Given the description of an element on the screen output the (x, y) to click on. 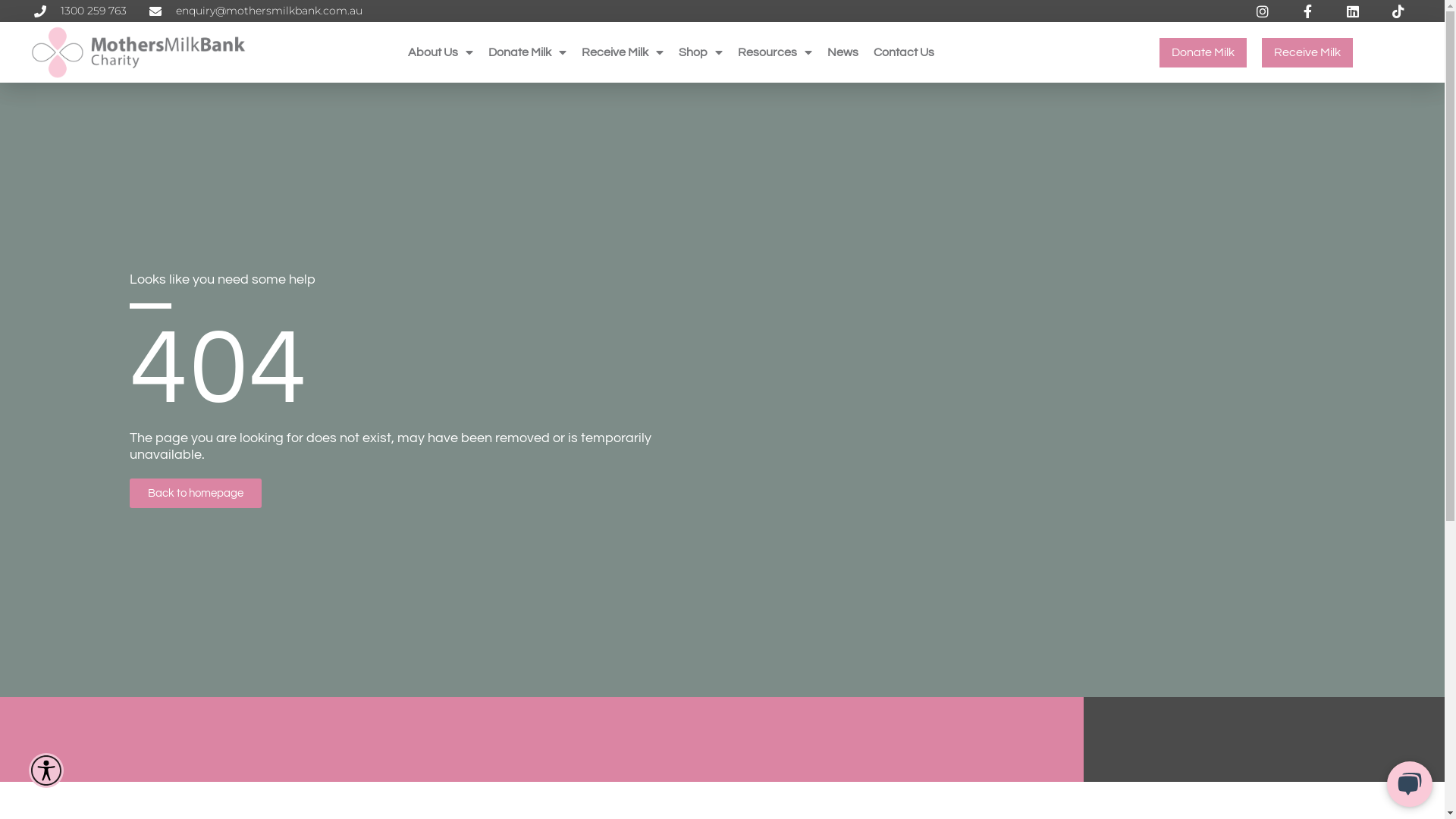
enquiry@mothersmilkbank.com.au Element type: text (255, 10)
Donate Milk Element type: text (1202, 52)
Resources Element type: text (774, 52)
Receive Milk Element type: text (1306, 52)
Receive Milk Element type: text (622, 52)
Shop Element type: text (700, 52)
News Element type: text (842, 52)
Back to homepage Element type: text (195, 493)
About Us Element type: text (440, 52)
Contact Us Element type: text (903, 52)
Donate Milk Element type: text (527, 52)
